Given the description of an element on the screen output the (x, y) to click on. 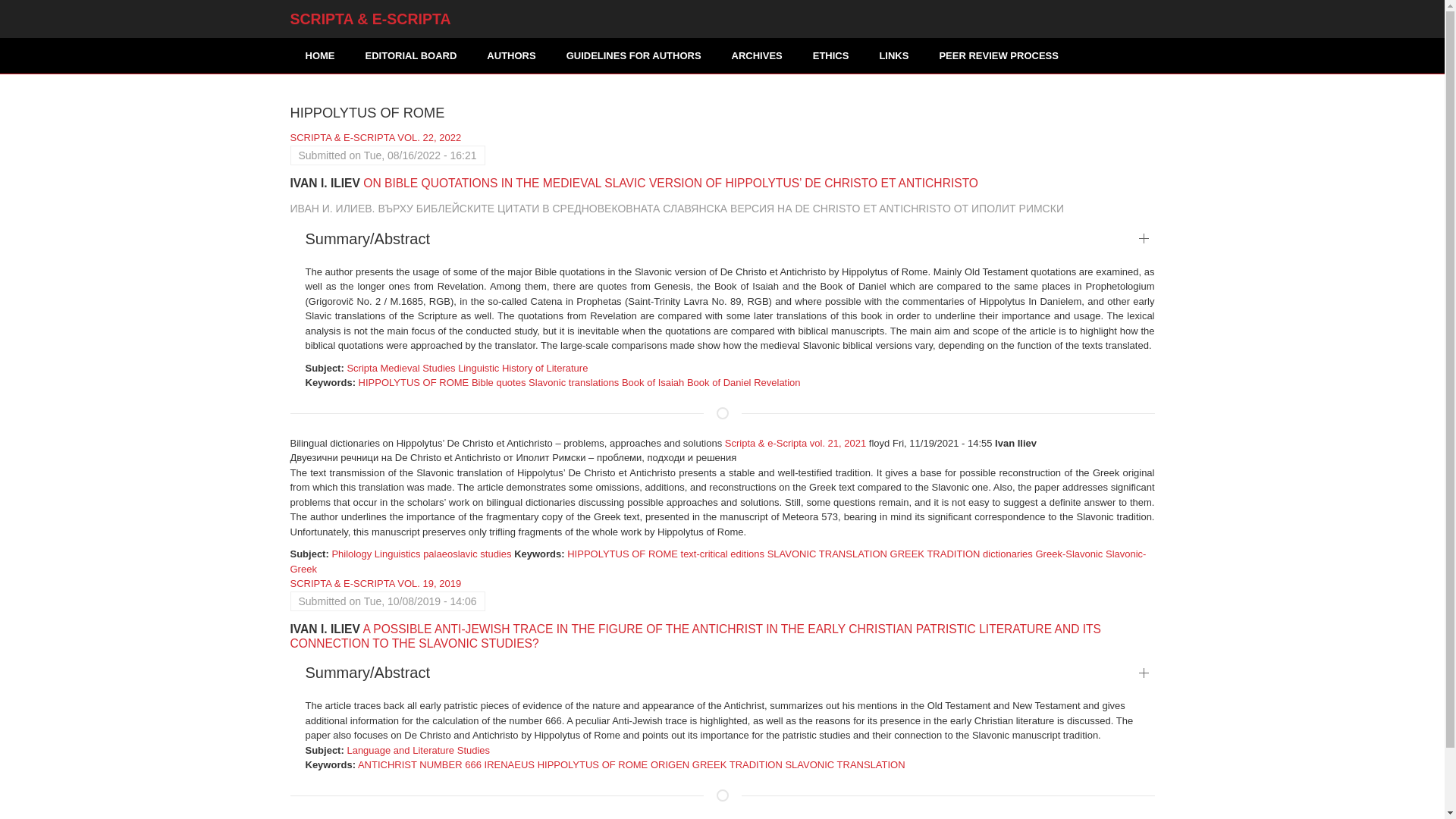
History of Literature (545, 367)
Scripta (361, 367)
ARCHIVES (756, 55)
HIPPOLYTUS OF ROME (413, 382)
Linguistic (478, 367)
AUTHORS (510, 55)
ETHICS (830, 55)
AUTHORS (510, 55)
HOME (319, 55)
PEER REVIEW PROCESS (998, 55)
